Given the description of an element on the screen output the (x, y) to click on. 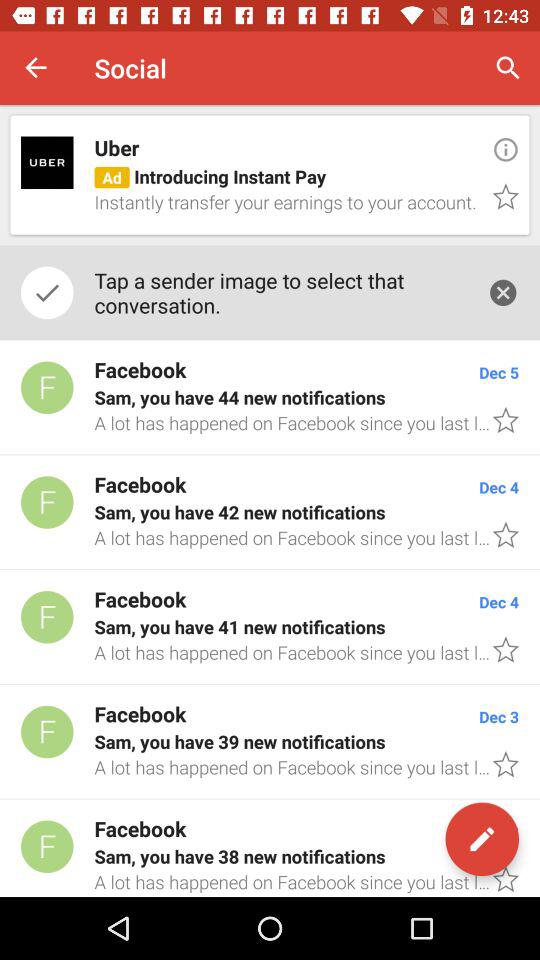
choose item next to the ad introducing instant icon (500, 198)
